Given the description of an element on the screen output the (x, y) to click on. 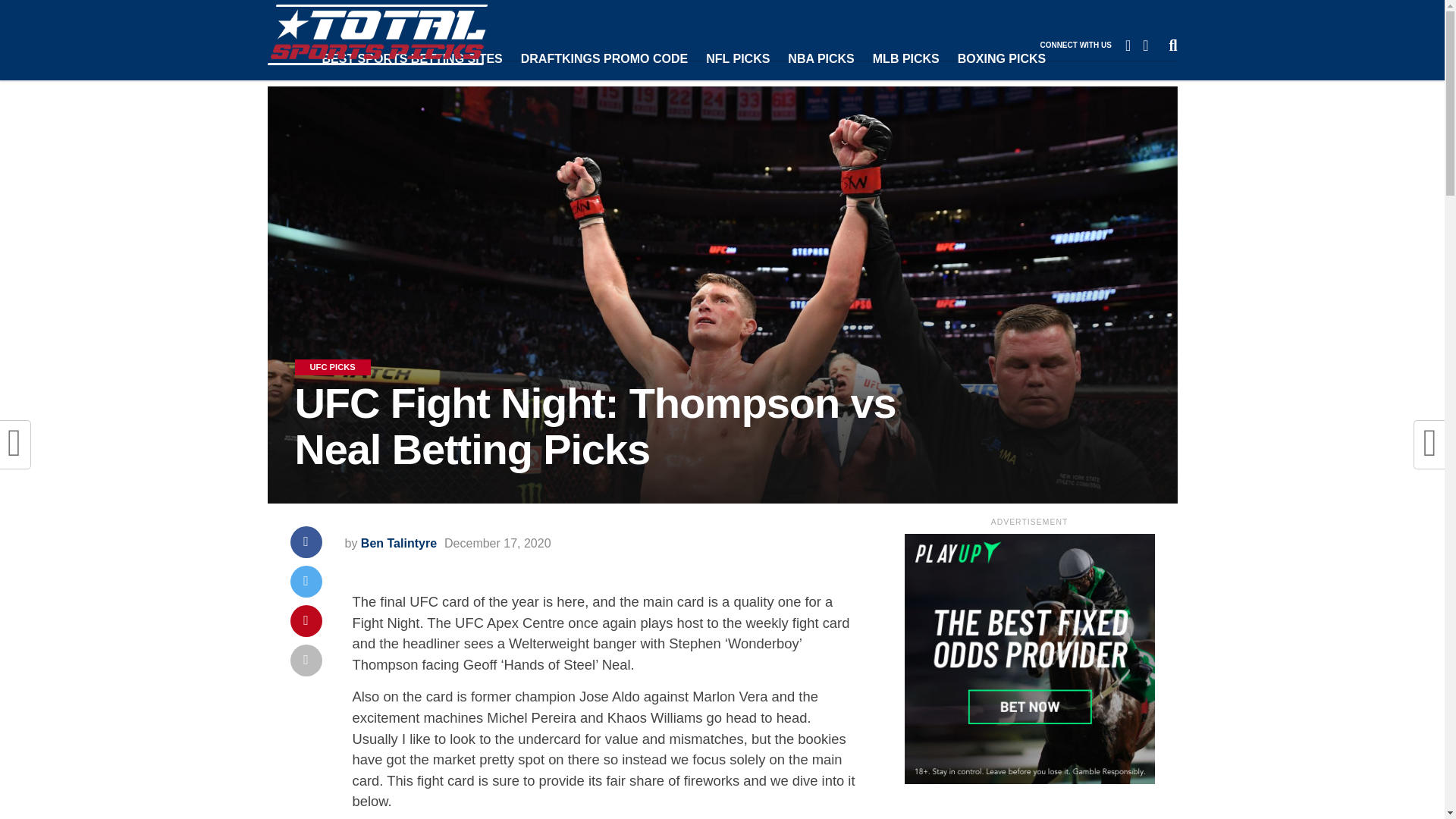
NBA PICKS (820, 59)
DRAFTKINGS PROMO CODE (604, 59)
NFL PICKS (737, 59)
Ben Talintyre (398, 543)
MLB PICKS (906, 59)
BEST SPORTS BETTING SITES (412, 59)
Posts by Ben Talintyre (398, 543)
BOXING PICKS (1001, 59)
